Given the description of an element on the screen output the (x, y) to click on. 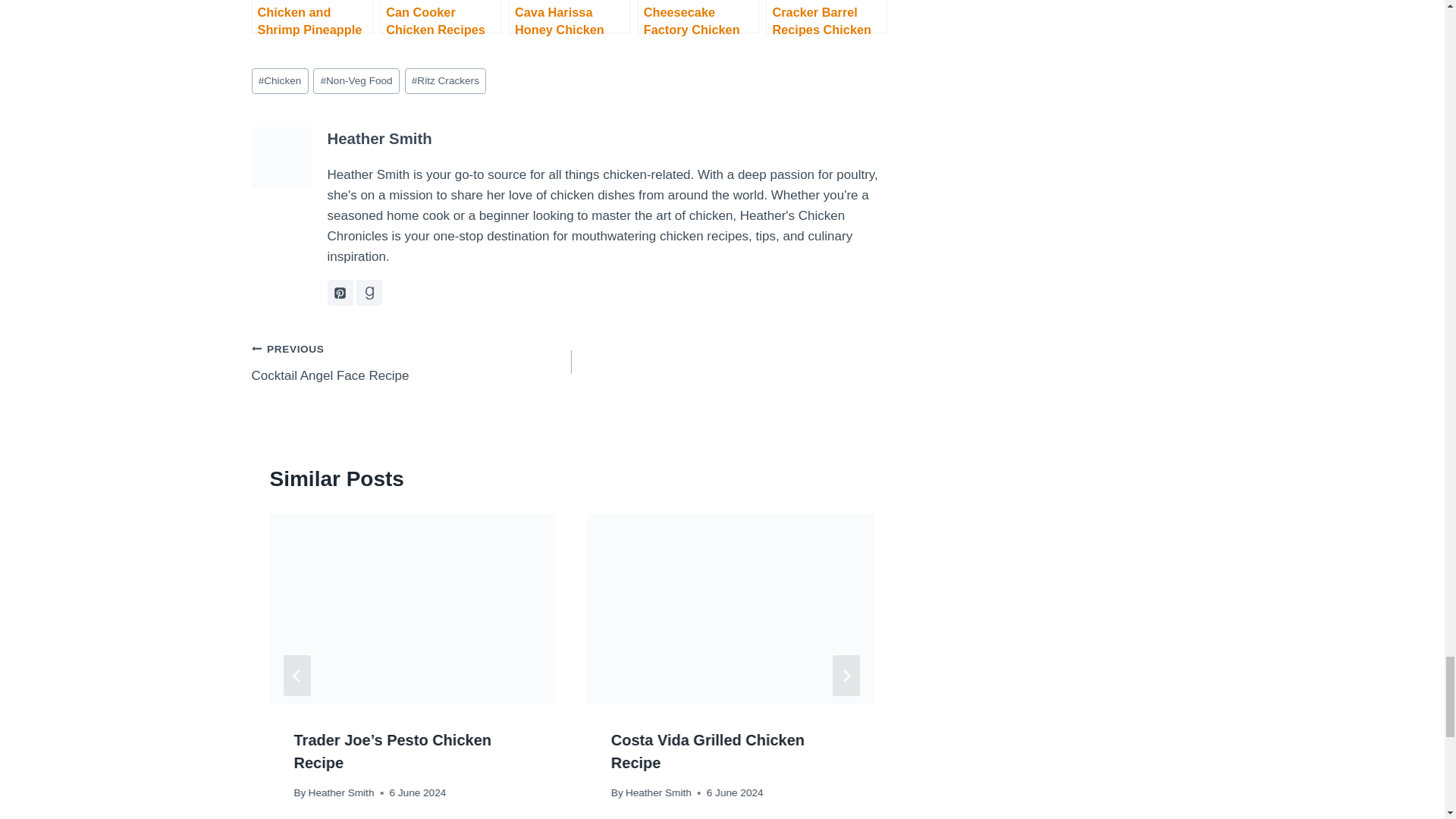
Cracker Barrel Recipes Chicken And Rice (825, 16)
Cheesecake Factory Chicken And Biscuits Recipe (697, 16)
Chicken and Shrimp Pineapple Bowl Recipe (311, 16)
Can Cooker Chicken Recipes (440, 16)
Chicken and Shrimp Pineapple Bowl Recipe (311, 16)
Cava Harissa Honey Chicken Recipe (569, 16)
Can Cooker Chicken Recipes (440, 16)
